Given the description of an element on the screen output the (x, y) to click on. 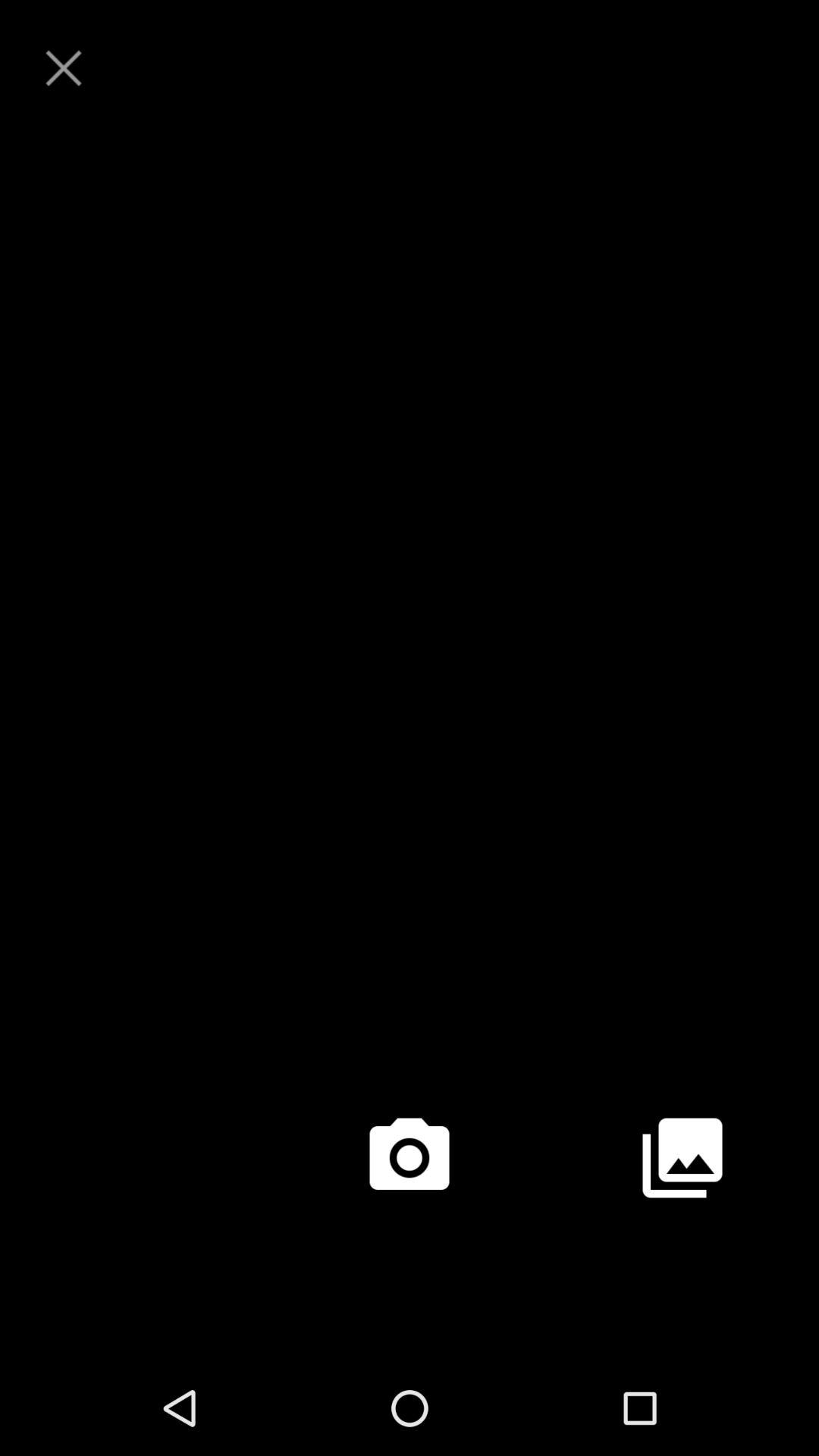
close (63, 68)
